Given the description of an element on the screen output the (x, y) to click on. 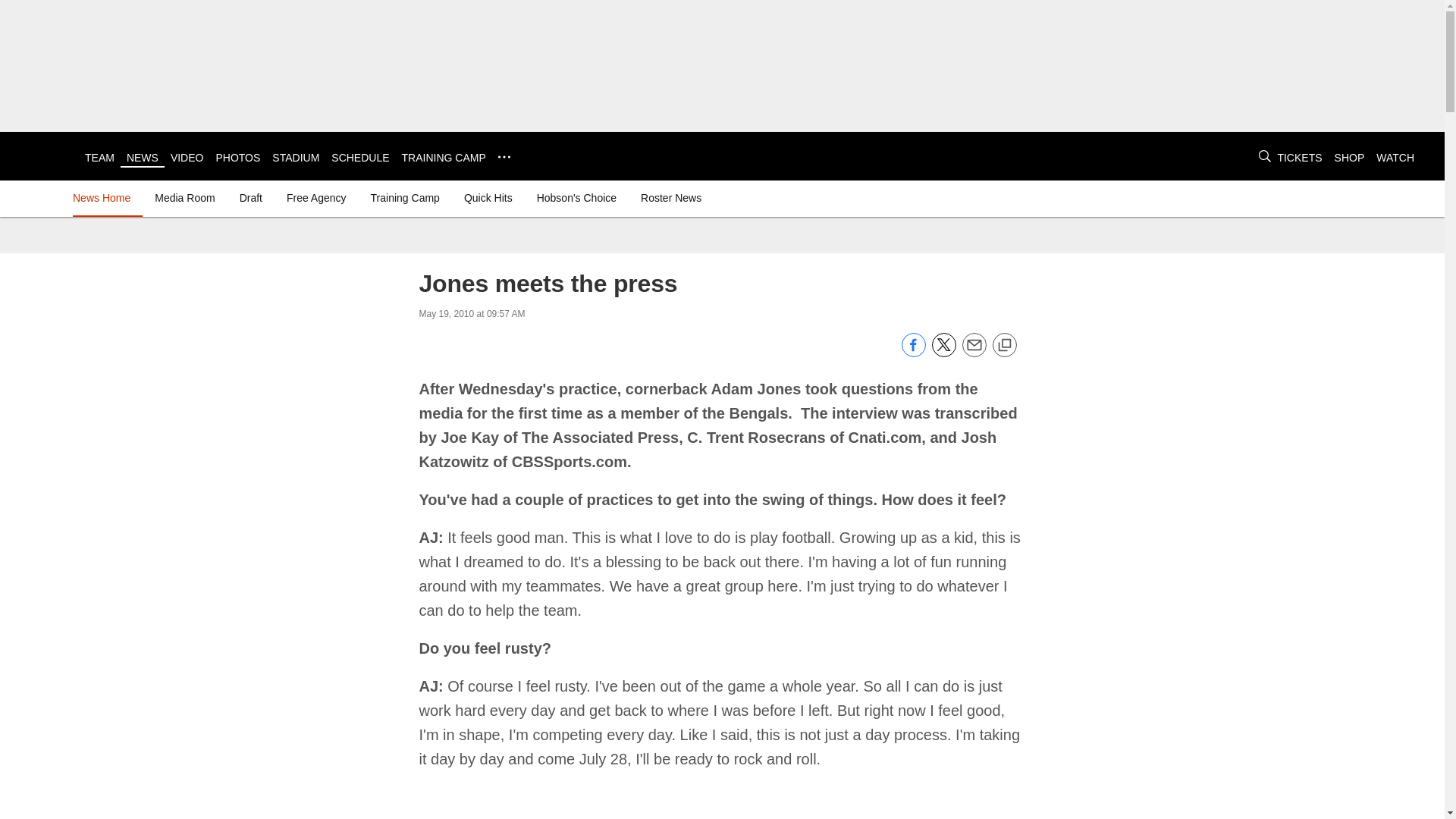
TRAINING CAMP (443, 157)
WATCH (1394, 157)
NEWS (142, 157)
VIDEO (186, 157)
Roster News (670, 197)
Media Room (184, 197)
Training Camp (405, 197)
News Home (104, 197)
Free Agency (316, 197)
STADIUM (295, 157)
